Given the description of an element on the screen output the (x, y) to click on. 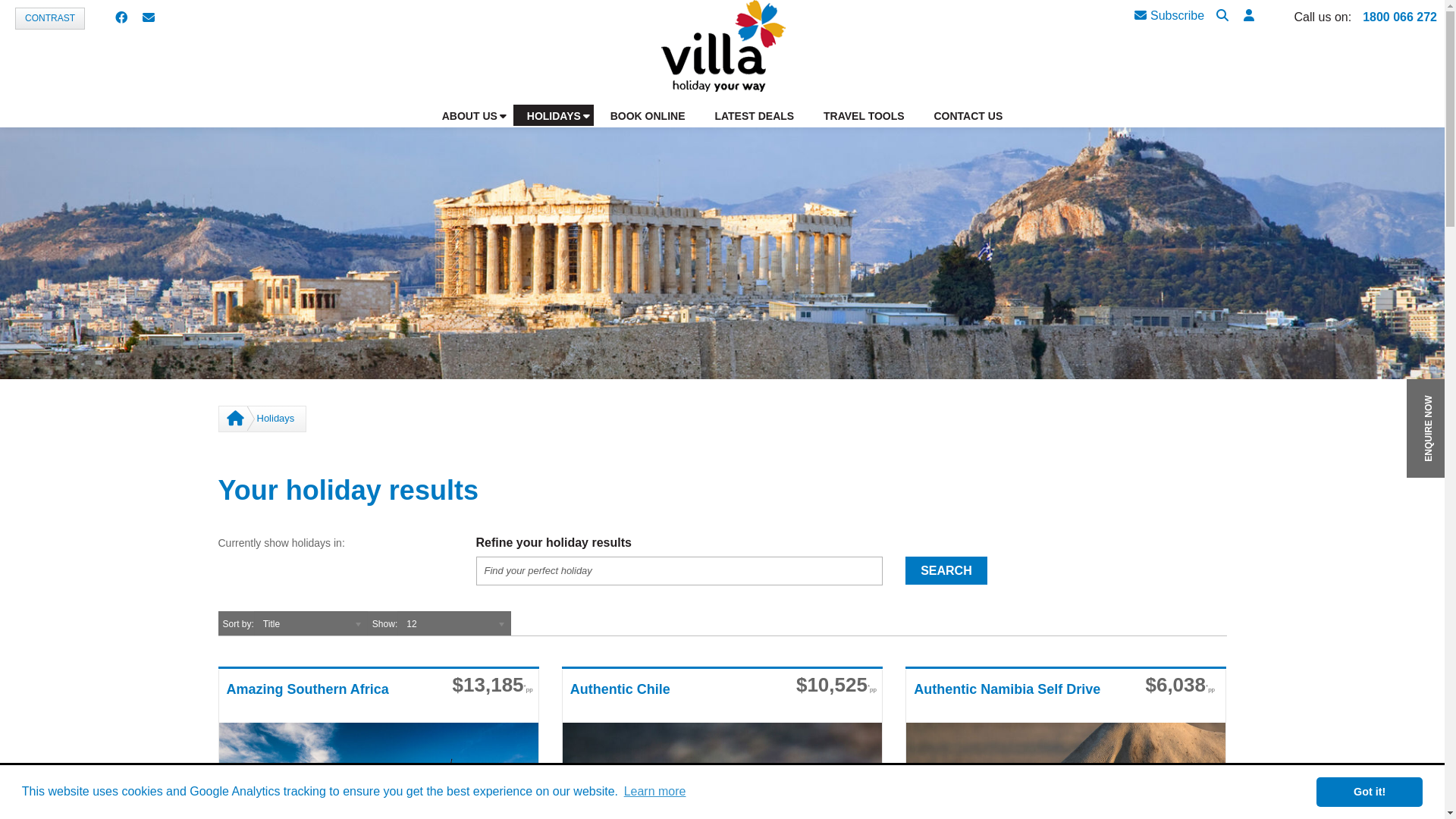
Agent Login Element type: hover (1248, 16)
ABOUT US Element type: text (469, 114)
CONTRAST Element type: text (49, 18)
Authentic Chile Element type: text (669, 700)
LATEST DEALS Element type: text (754, 114)
1800 066 272 Element type: text (1399, 16)
12 Element type: text (454, 623)
Got it! Element type: text (1369, 791)
Title Element type: text (310, 623)
BOOK ONLINE Element type: text (647, 114)
TRAVEL TOOLS Element type: text (864, 114)
SEARCH Element type: text (946, 570)
CONTACT US Element type: text (968, 114)
Holidays Element type: text (275, 417)
Facebook Element type: hover (121, 18)
Login Element type: text (1319, 228)
Authentic Namibia Self Drive Element type: text (1012, 700)
HOLIDAYS Element type: text (553, 114)
Learn more Element type: text (654, 791)
Amazing Southern Africa Element type: text (324, 700)
Subscribe Element type: text (1169, 16)
Sign up to receive our newsletter Element type: hover (148, 18)
Search Element type: hover (1222, 16)
